Given the description of an element on the screen output the (x, y) to click on. 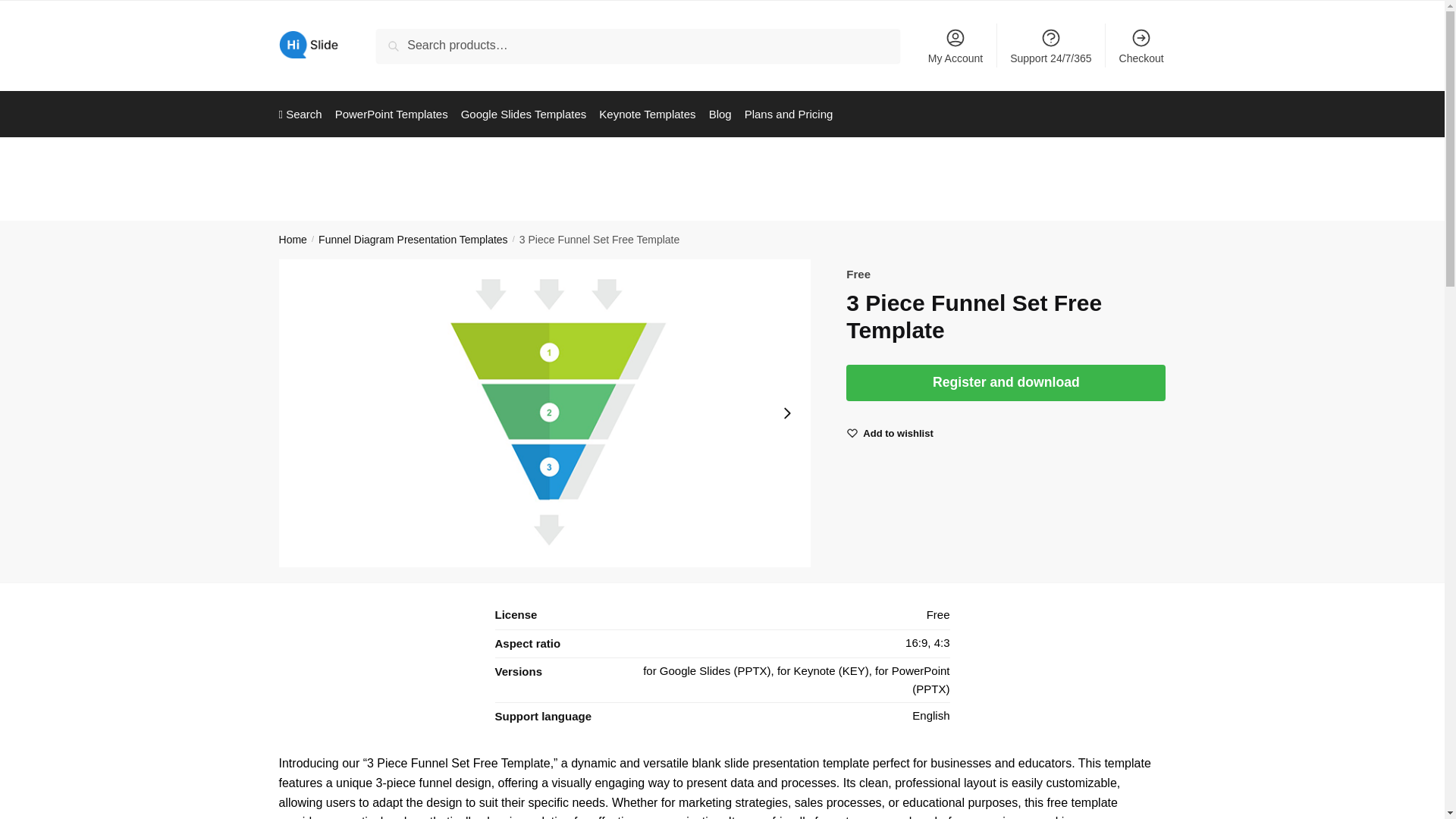
Home (293, 239)
Checkout (1141, 45)
Funnel Diagram Presentation Templates (413, 239)
Google Slides Templates (523, 114)
Add to wishlist (898, 433)
Keynote Templates (646, 114)
Plans and Pricing (788, 114)
My Account (955, 45)
Register and download (1005, 382)
Search (399, 38)
